Given the description of an element on the screen output the (x, y) to click on. 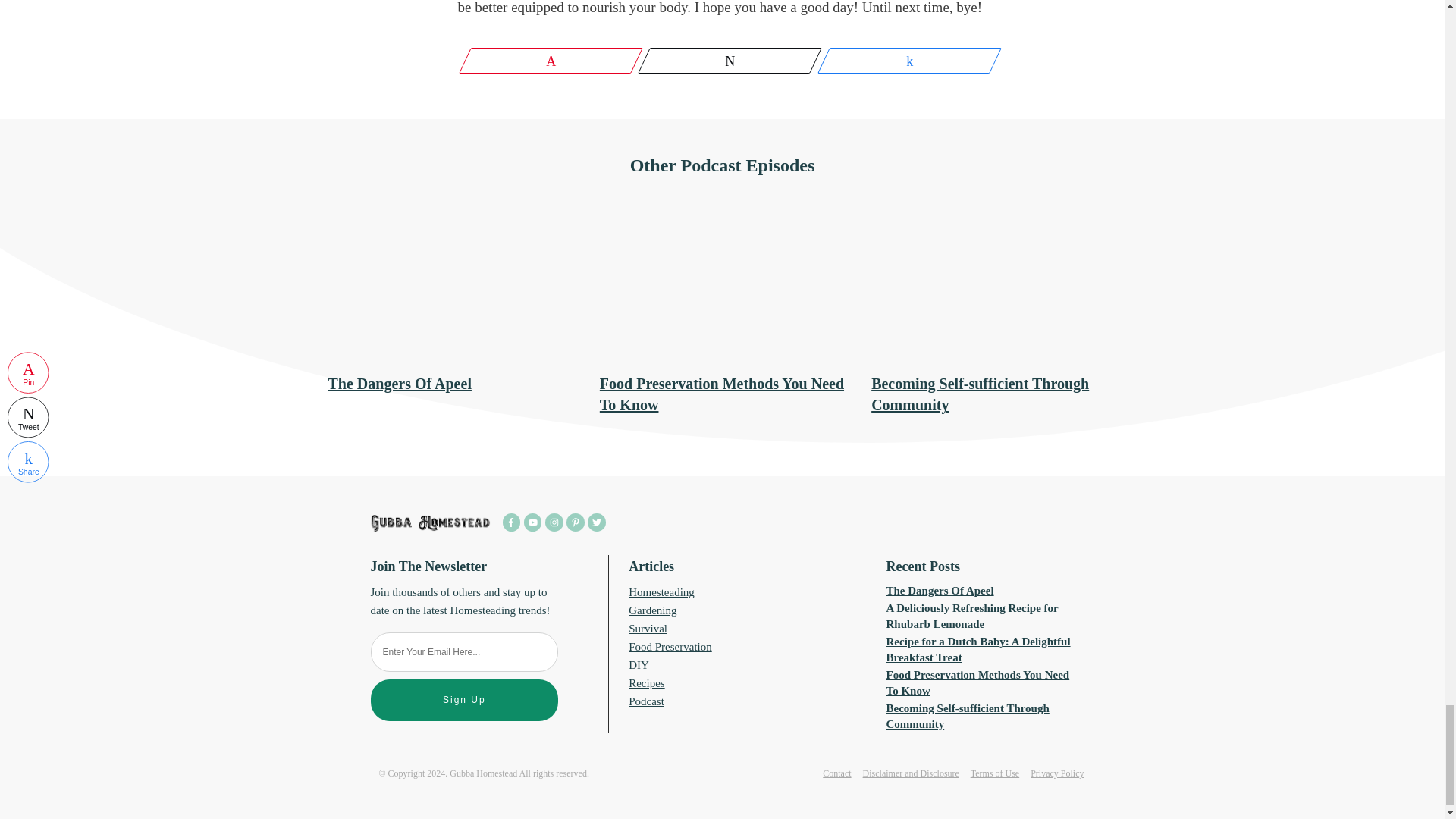
A Deliciously Refreshing Recipe for Rhubarb Lemonade (972, 615)
Food Preservation Methods You Need To Know (721, 394)
Sign Up (463, 700)
Food Preservation Methods You Need To Know (721, 394)
Food Preservation Methods You Need To Know (978, 682)
DIY (638, 664)
gubba-homestead-logo-flat (429, 523)
The Dangers Of Apeel (398, 383)
Recipes (645, 683)
Survival (647, 628)
The Dangers Of Apeel (398, 383)
Becoming Self-sufficient Through Community (967, 715)
Food Preservation (669, 646)
Gardening (652, 610)
The Dangers Of Apeel (940, 590)
